Given the description of an element on the screen output the (x, y) to click on. 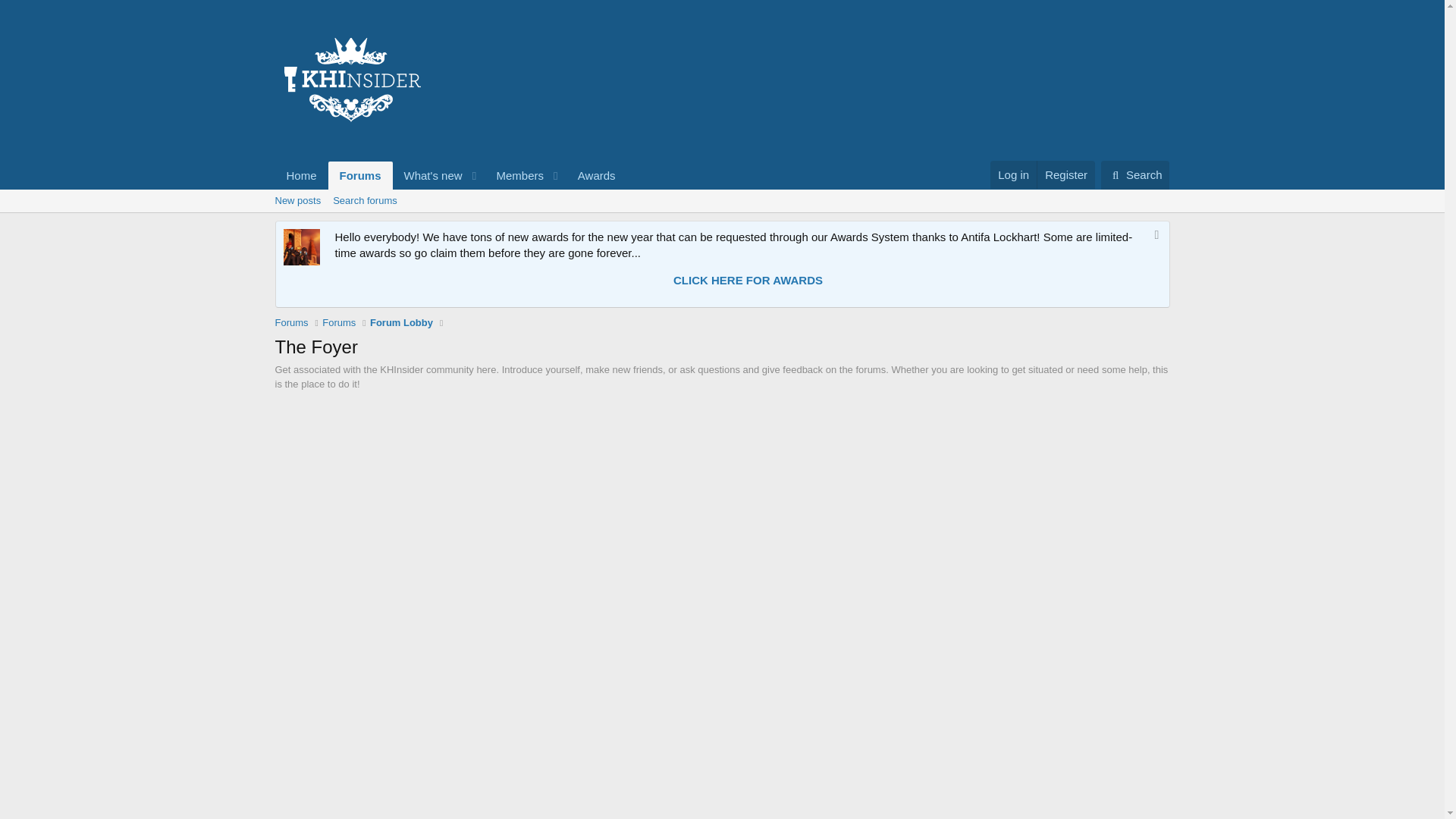
Forum Lobby (400, 322)
New posts (296, 200)
Forums (338, 322)
Members (514, 175)
Forums (361, 175)
Register (449, 175)
Search (1065, 174)
Home (1135, 174)
What's new (301, 175)
